Given the description of an element on the screen output the (x, y) to click on. 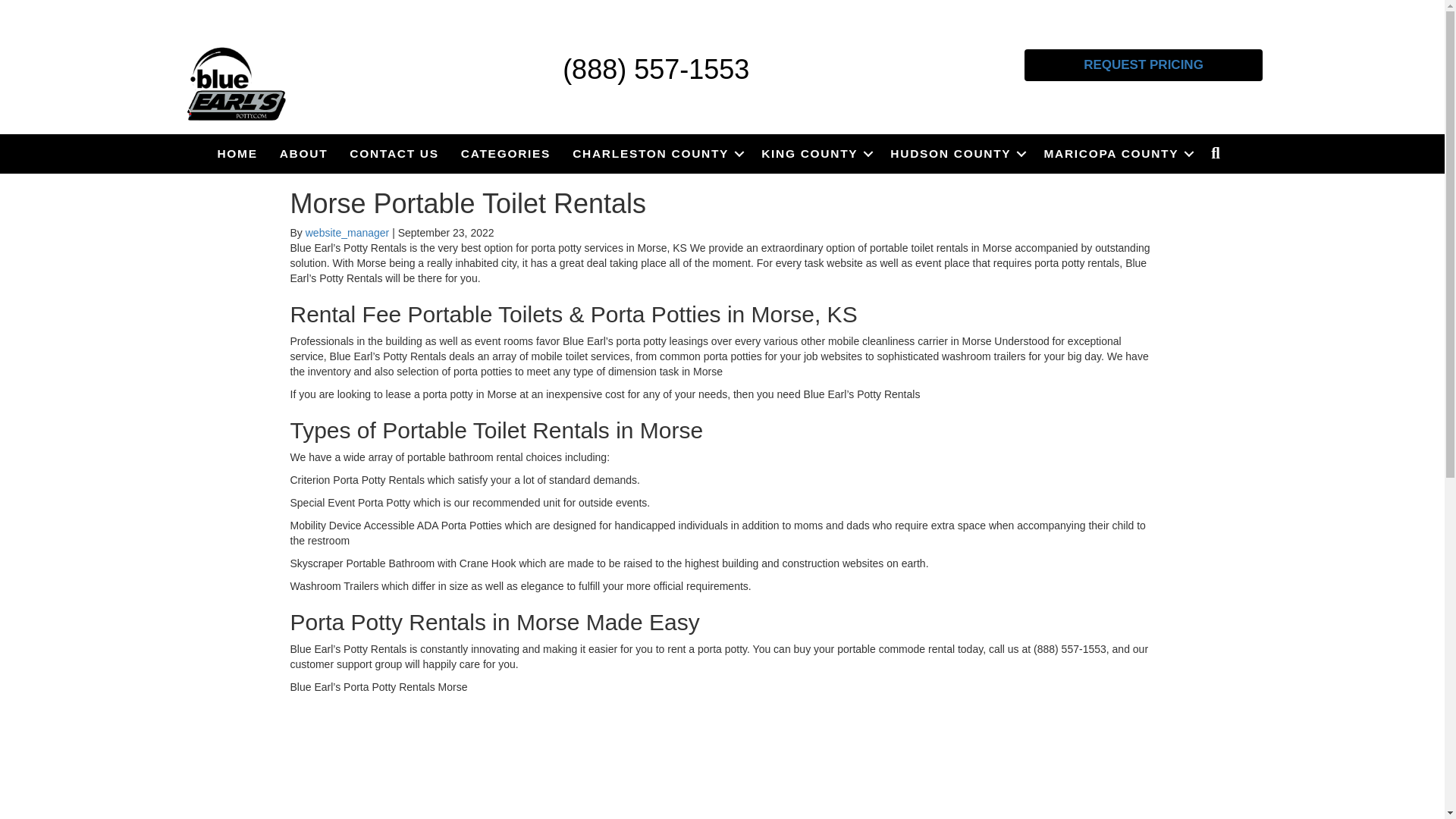
CATEGORIES (504, 153)
blueearlspotty (237, 83)
HOME (236, 153)
ABOUT (304, 153)
CHARLESTON COUNTY (655, 153)
REQUEST PRICING (1144, 65)
CONTACT US (393, 153)
Skip to content (34, 6)
HUDSON COUNTY (955, 153)
KING COUNTY (815, 153)
